Given the description of an element on the screen output the (x, y) to click on. 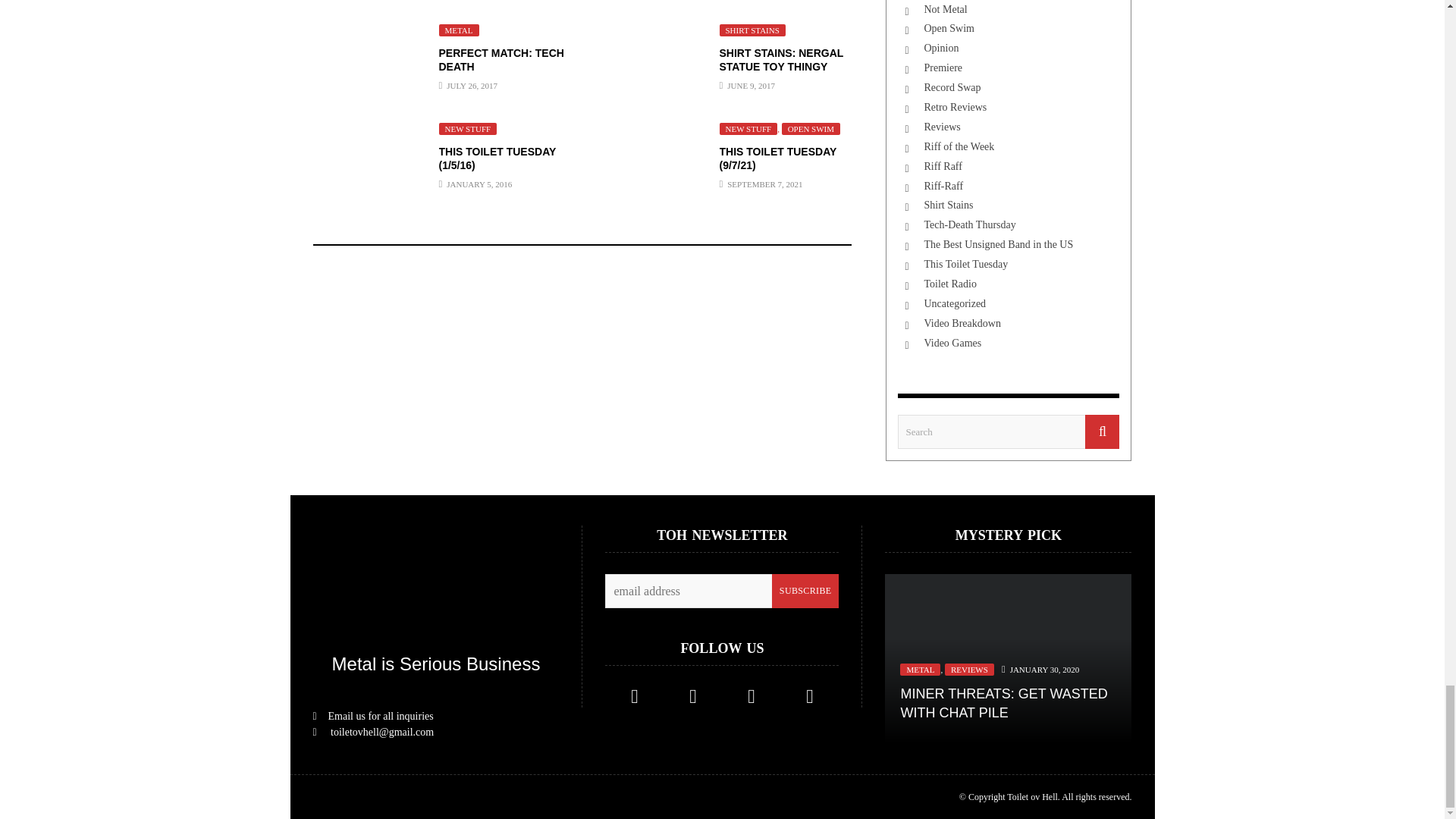
Search (1008, 431)
Subscribe (805, 591)
